Given the description of an element on the screen output the (x, y) to click on. 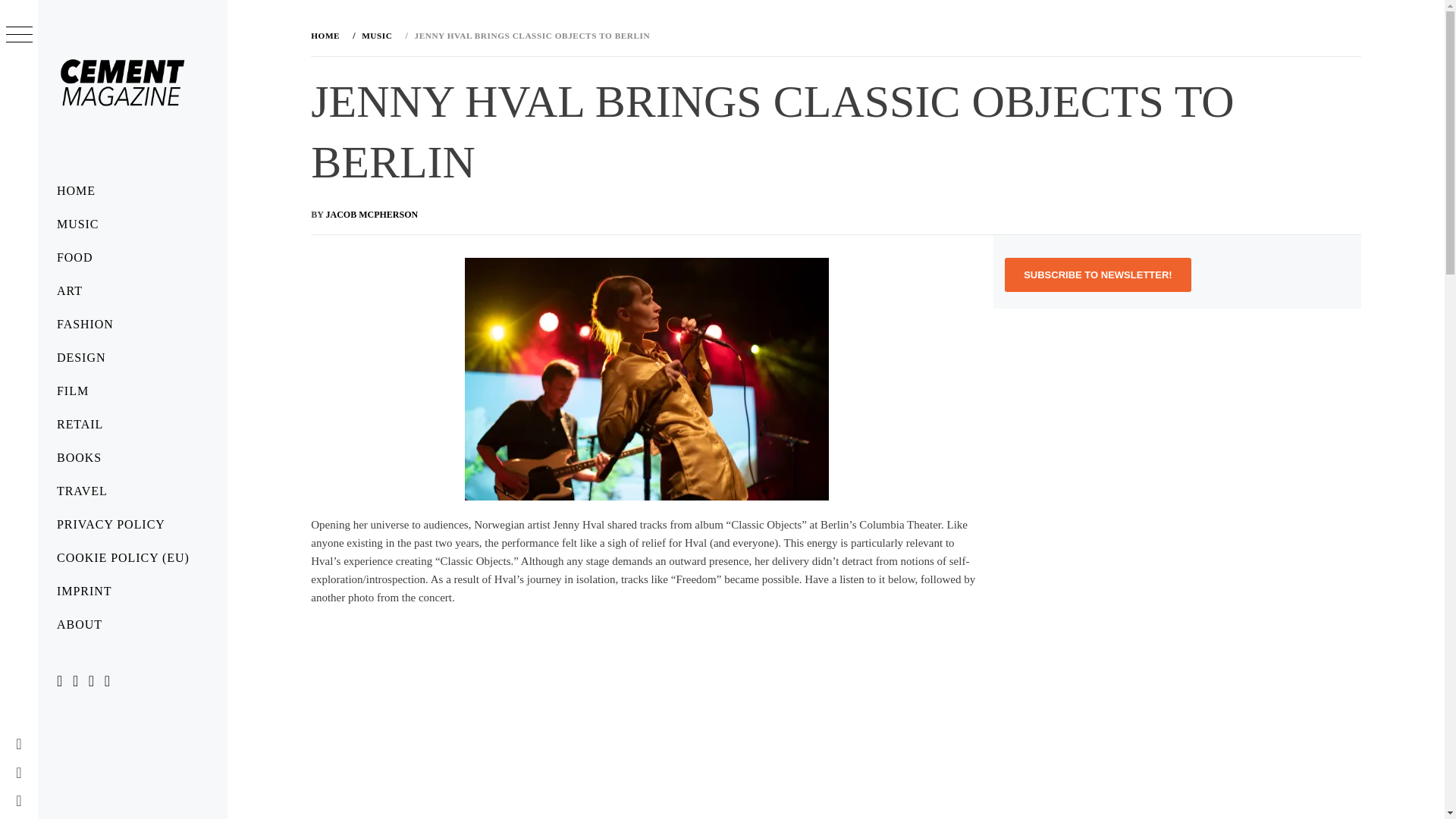
ART (132, 290)
FASHION (132, 324)
MUSIC (132, 224)
HOME (132, 191)
Search (646, 37)
DESIGN (132, 357)
PRIVACY POLICY (132, 524)
MUSIC (374, 35)
FOOD (132, 257)
HOME (328, 35)
